Given the description of an element on the screen output the (x, y) to click on. 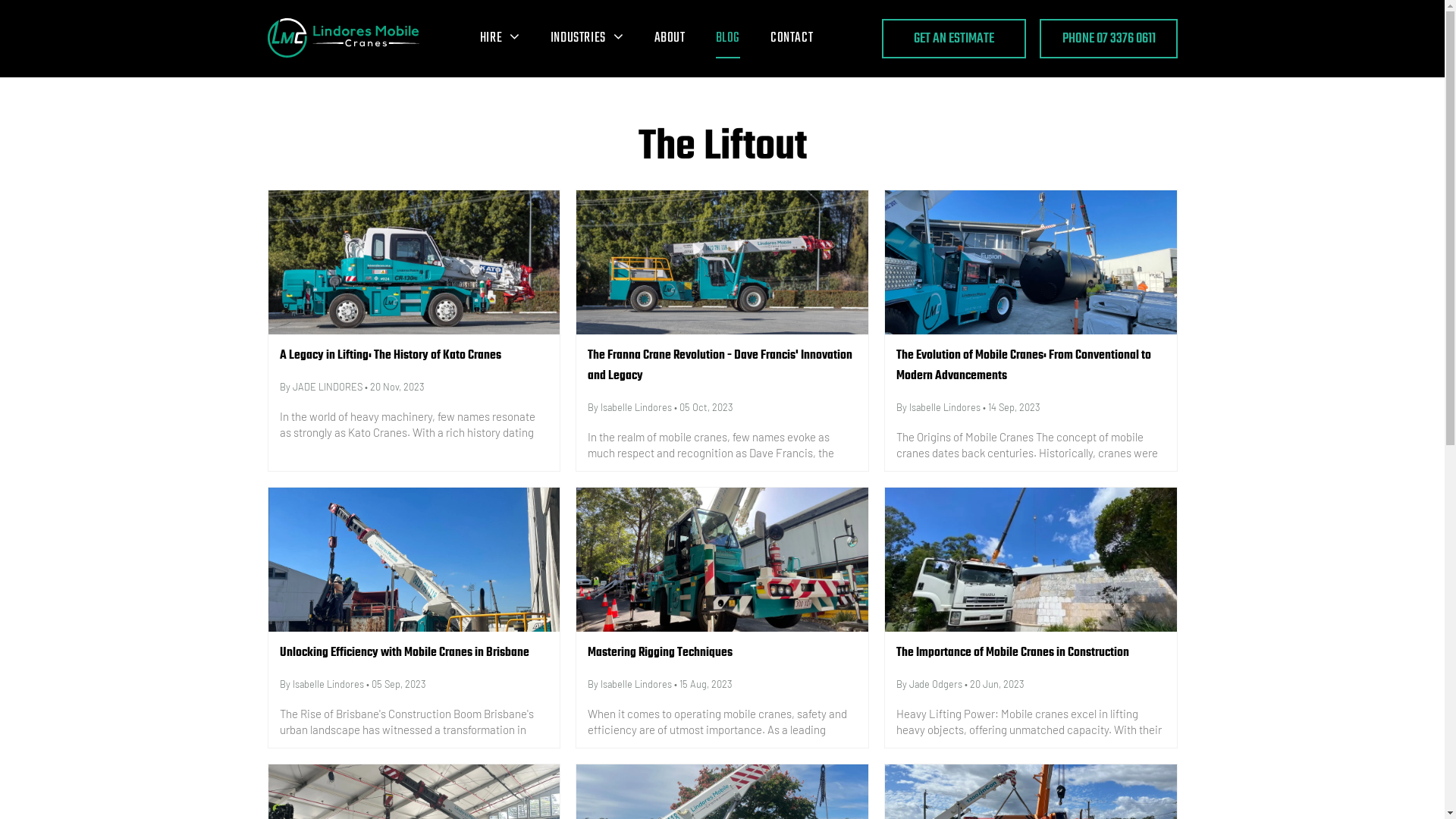
Mastering Rigging Techniques Element type: text (721, 653)
ABOUT Element type: text (668, 38)
A Legacy in Lifting: The History of Kato Cranes Element type: text (413, 355)
PHONE 07 3376 0611 Element type: text (1107, 38)
INDUSTRIES Element type: text (587, 38)
BLOG Element type: text (727, 38)
HIRE Element type: text (499, 38)
The Importance of Mobile Cranes in Construction Element type: text (1030, 653)
Unlocking Efficiency with Mobile Cranes in Brisbane Element type: text (413, 653)
GET AN ESTIMATE Element type: text (953, 38)
CONTACT Element type: text (791, 38)
